Given the description of an element on the screen output the (x, y) to click on. 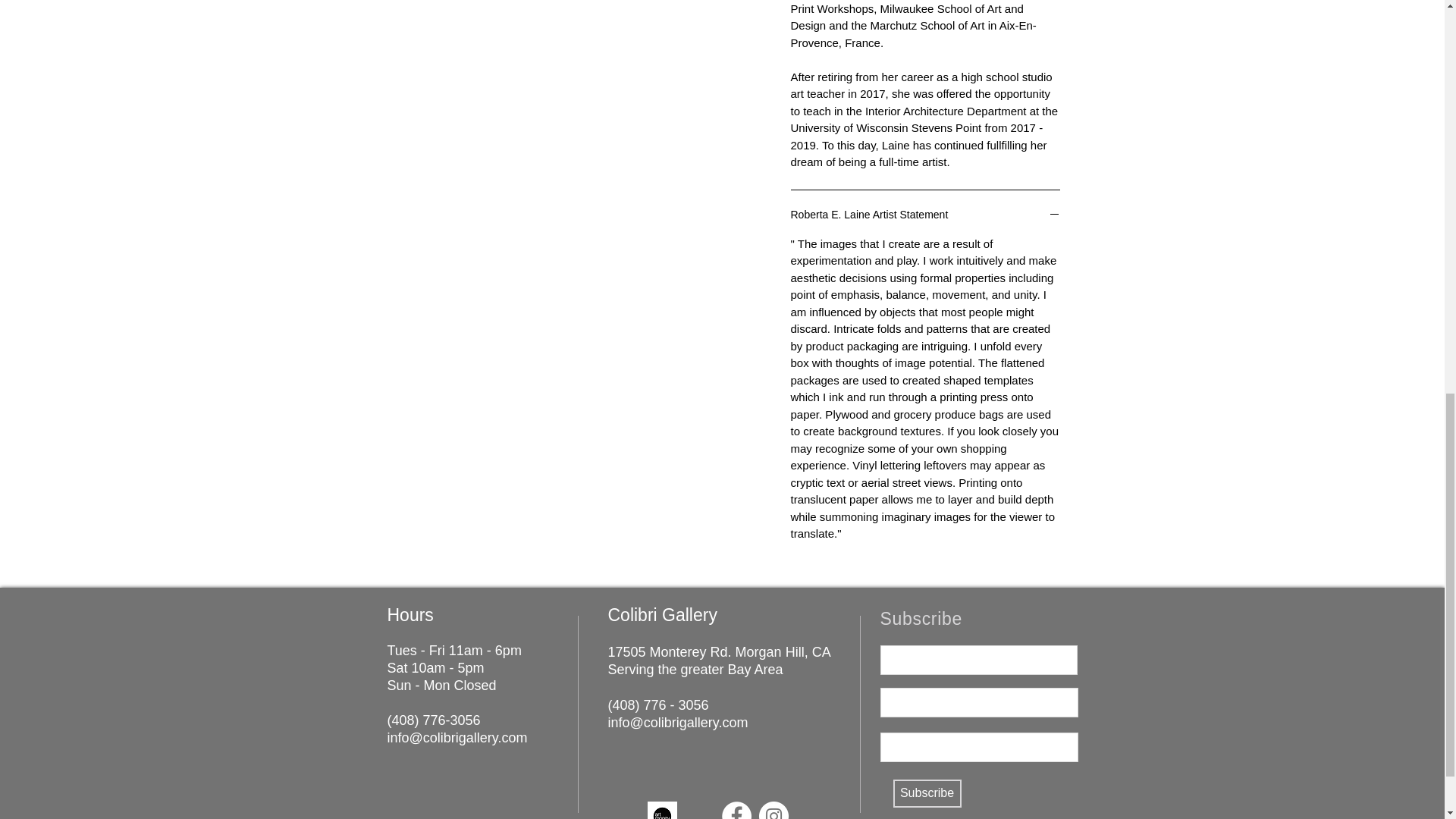
Colibri Gallery (662, 614)
Roberta E. Laine Artist Statement (924, 215)
Subscribe (926, 793)
